Given the description of an element on the screen output the (x, y) to click on. 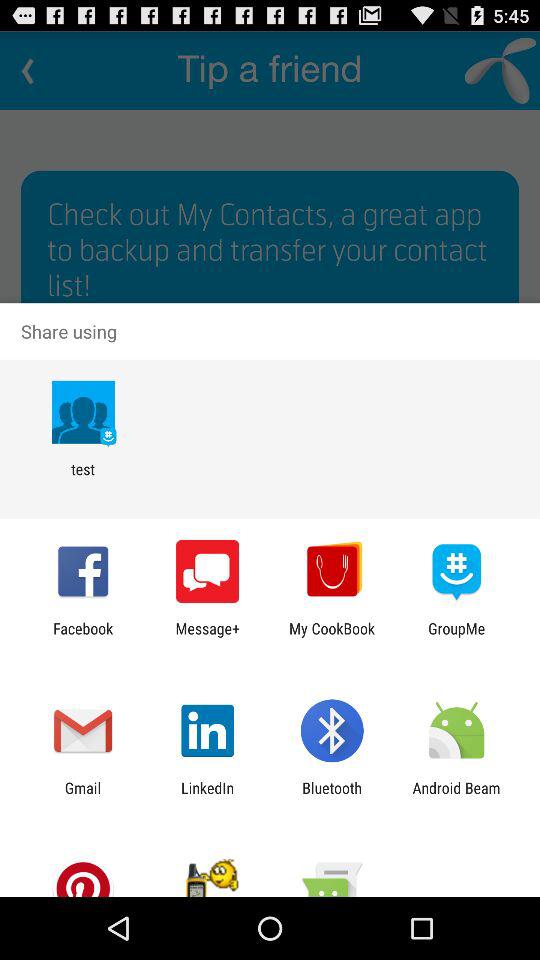
turn on the item next to bluetooth app (207, 796)
